Given the description of an element on the screen output the (x, y) to click on. 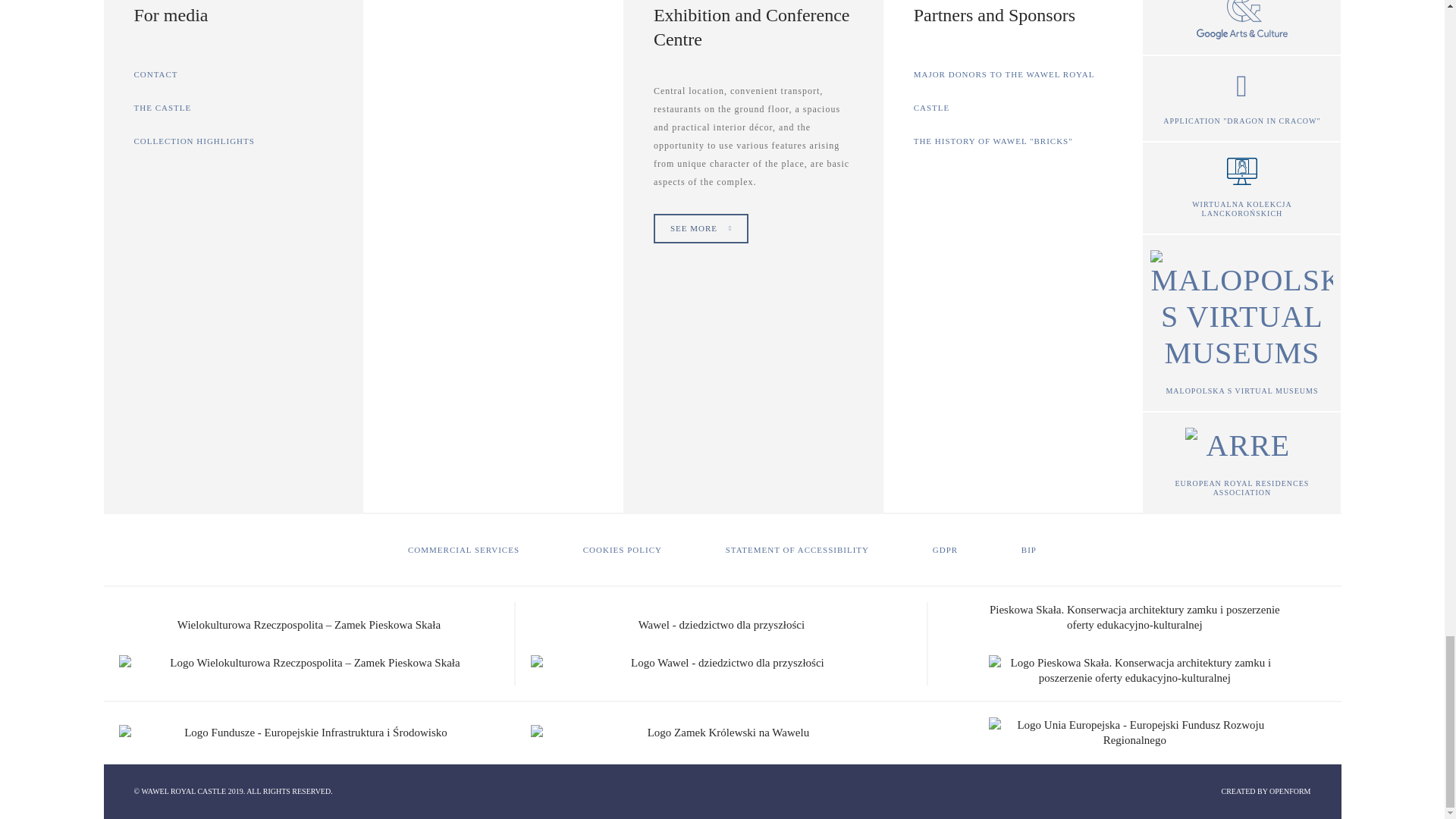
Otwarcie nowego okna (1241, 99)
Otwarcie nowego okna (1241, 462)
Otwarcie nowego okna (1241, 323)
Otwarcie nowego okna (1241, 188)
